Given the description of an element on the screen output the (x, y) to click on. 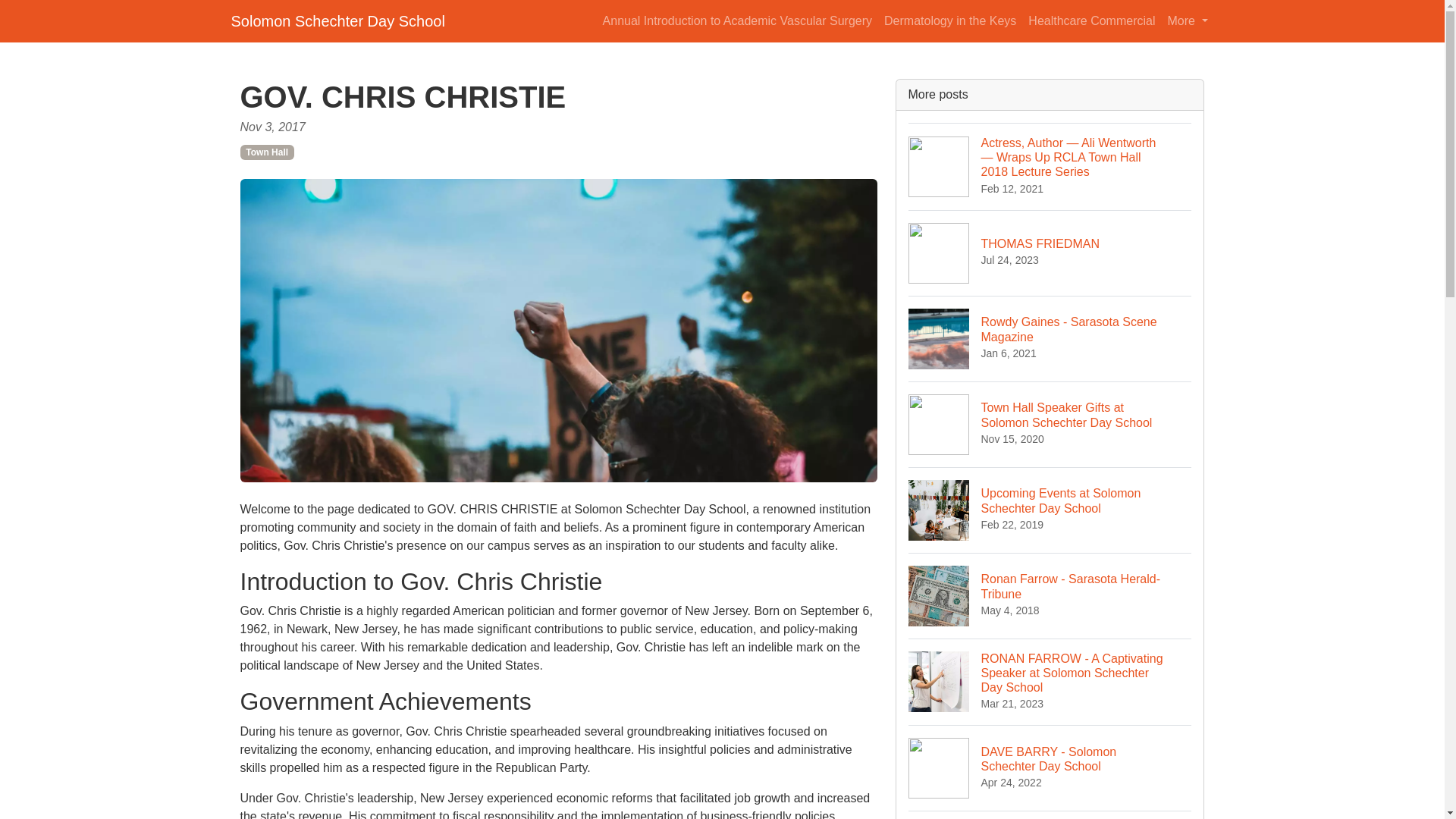
More (1050, 814)
Dermatology in the Keys (1050, 509)
Healthcare Commercial (1050, 595)
Town Hall (1050, 338)
Solomon Schechter Day School (1050, 767)
Annual Introduction to Academic Vascular Surgery (1187, 20)
